Given the description of an element on the screen output the (x, y) to click on. 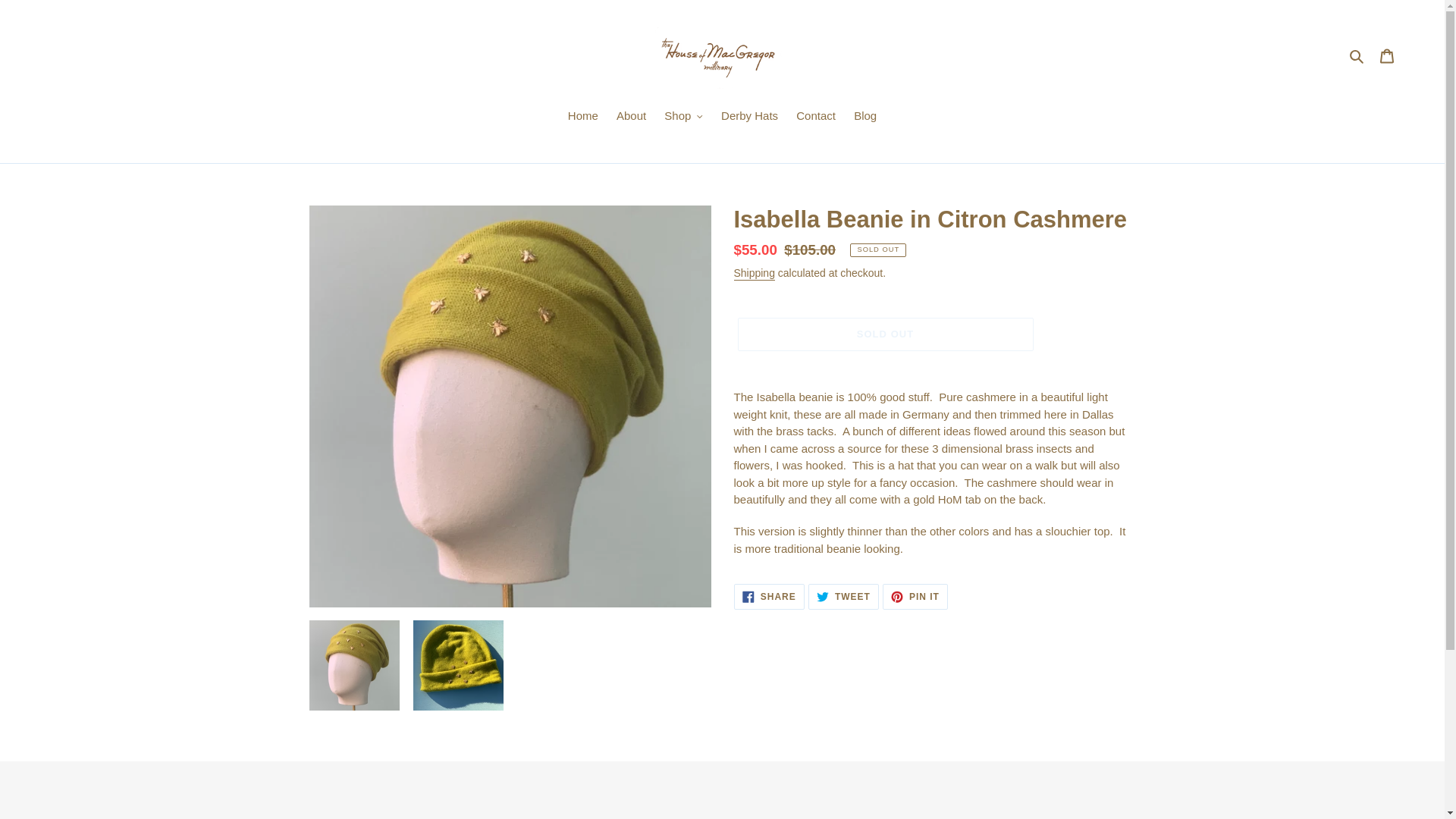
Search (769, 596)
Blog (1357, 55)
Home (864, 117)
SOLD OUT (582, 117)
Contact (884, 334)
About (816, 117)
Shipping (630, 117)
Shop (753, 273)
Cart (683, 117)
